Given the description of an element on the screen output the (x, y) to click on. 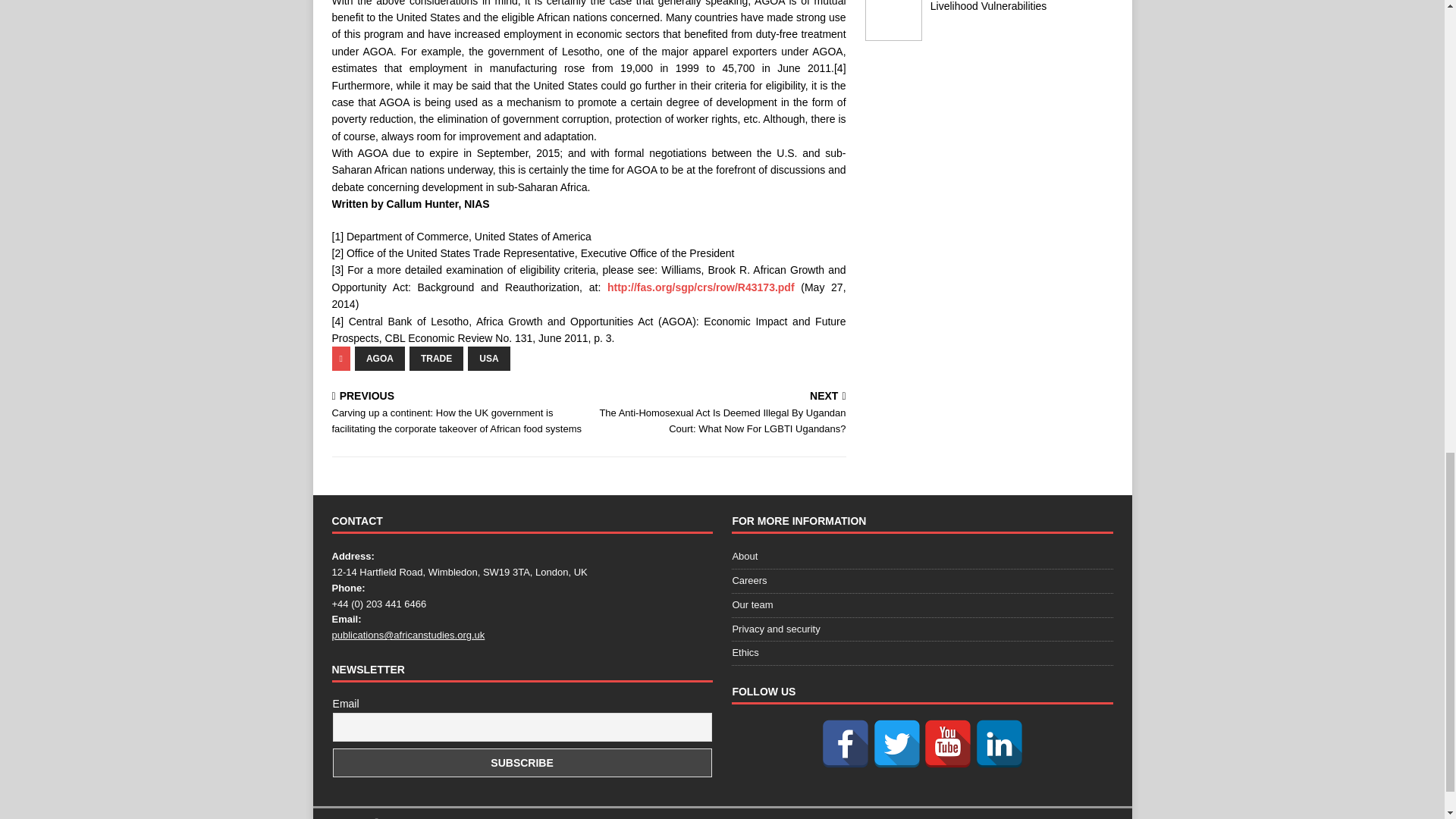
Subscribe (522, 762)
TRADE (436, 358)
Subscribe (522, 762)
USA (488, 358)
AGOA (379, 358)
LinkedIn (999, 743)
YouTube (947, 743)
Facebook (845, 743)
Twitter (896, 743)
